Given the description of an element on the screen output the (x, y) to click on. 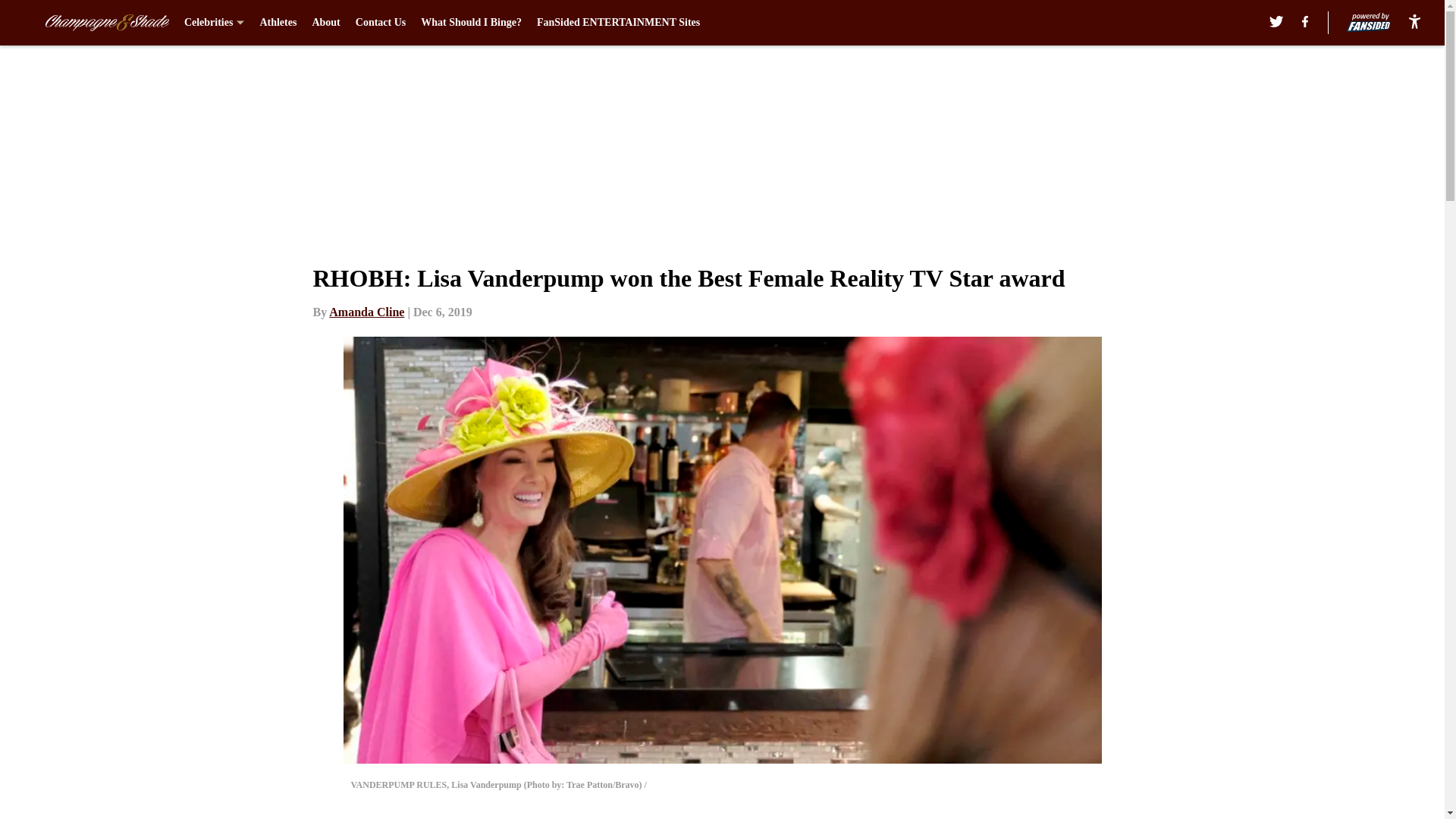
FanSided ENTERTAINMENT Sites (618, 22)
Contact Us (380, 22)
Amanda Cline (366, 311)
What Should I Binge? (470, 22)
Athletes (278, 22)
About (325, 22)
